Given the description of an element on the screen output the (x, y) to click on. 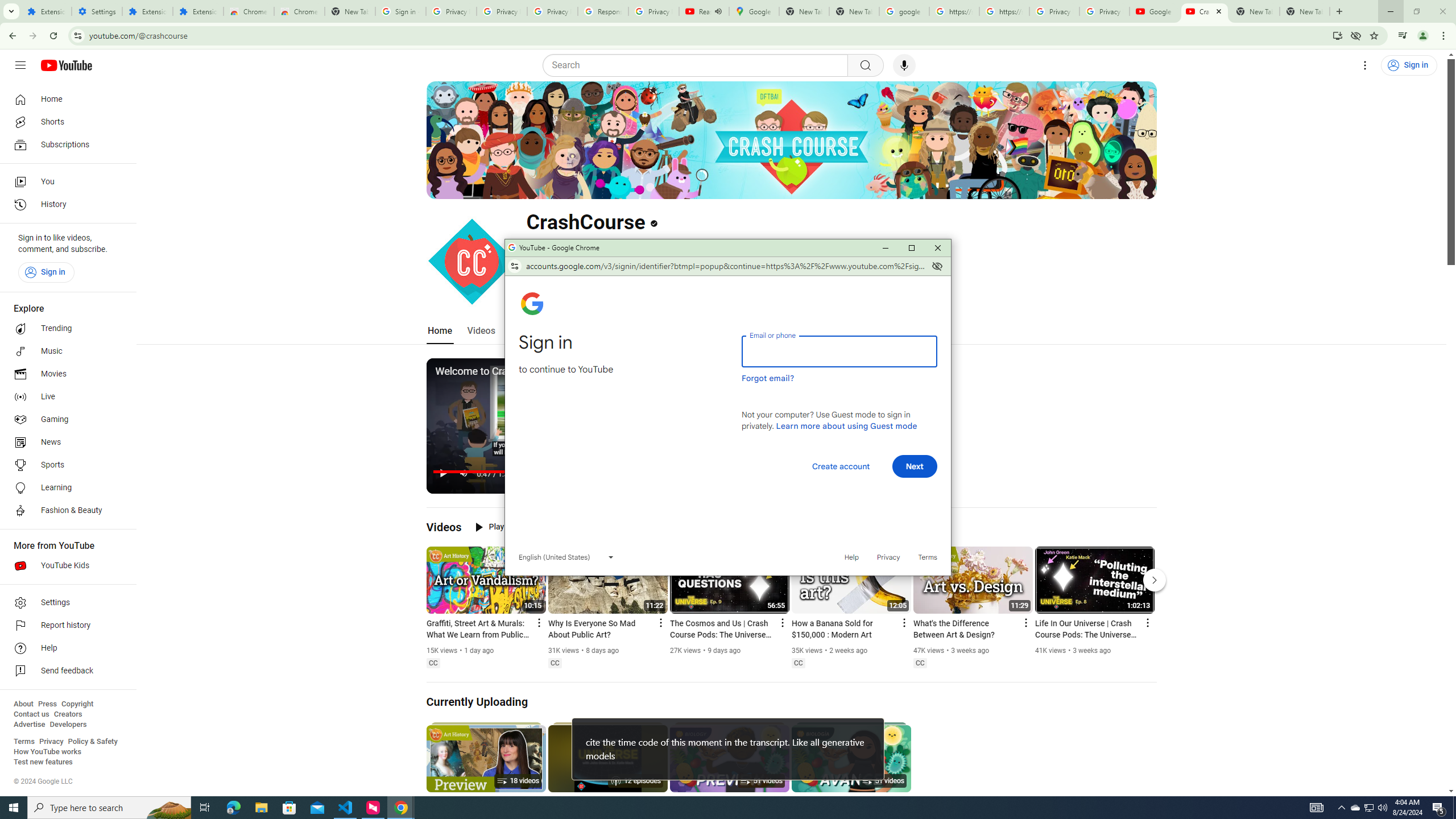
CrashCourse - YouTube (1204, 11)
Sign in - Google Accounts (399, 11)
Microsoft Edge (233, 807)
History (64, 204)
